Given the description of an element on the screen output the (x, y) to click on. 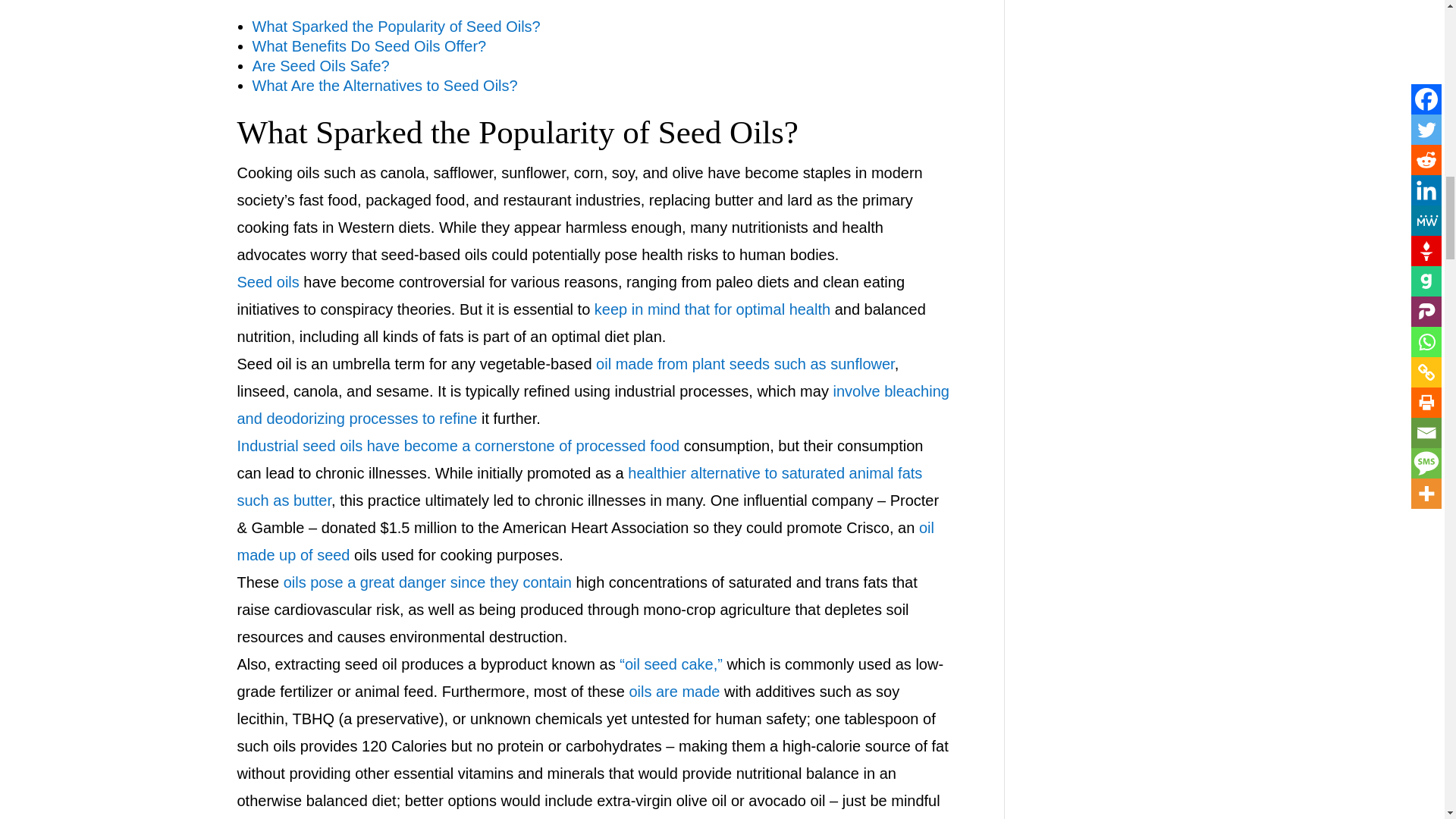
oil made up of seed (584, 541)
What Sparked the Popularity of Seed Oils? (395, 26)
What Sparked the Popularity of Seed Oils? (516, 131)
What Benefits Do Seed Oils Offer? (368, 45)
Seed oils (266, 281)
keep in mind that for optimal health (711, 309)
oil made from plant seeds such as sunflower (745, 363)
oils pose a great danger since they contain (427, 582)
involve bleaching and deodorizing processes to refine (592, 404)
